Given the description of an element on the screen output the (x, y) to click on. 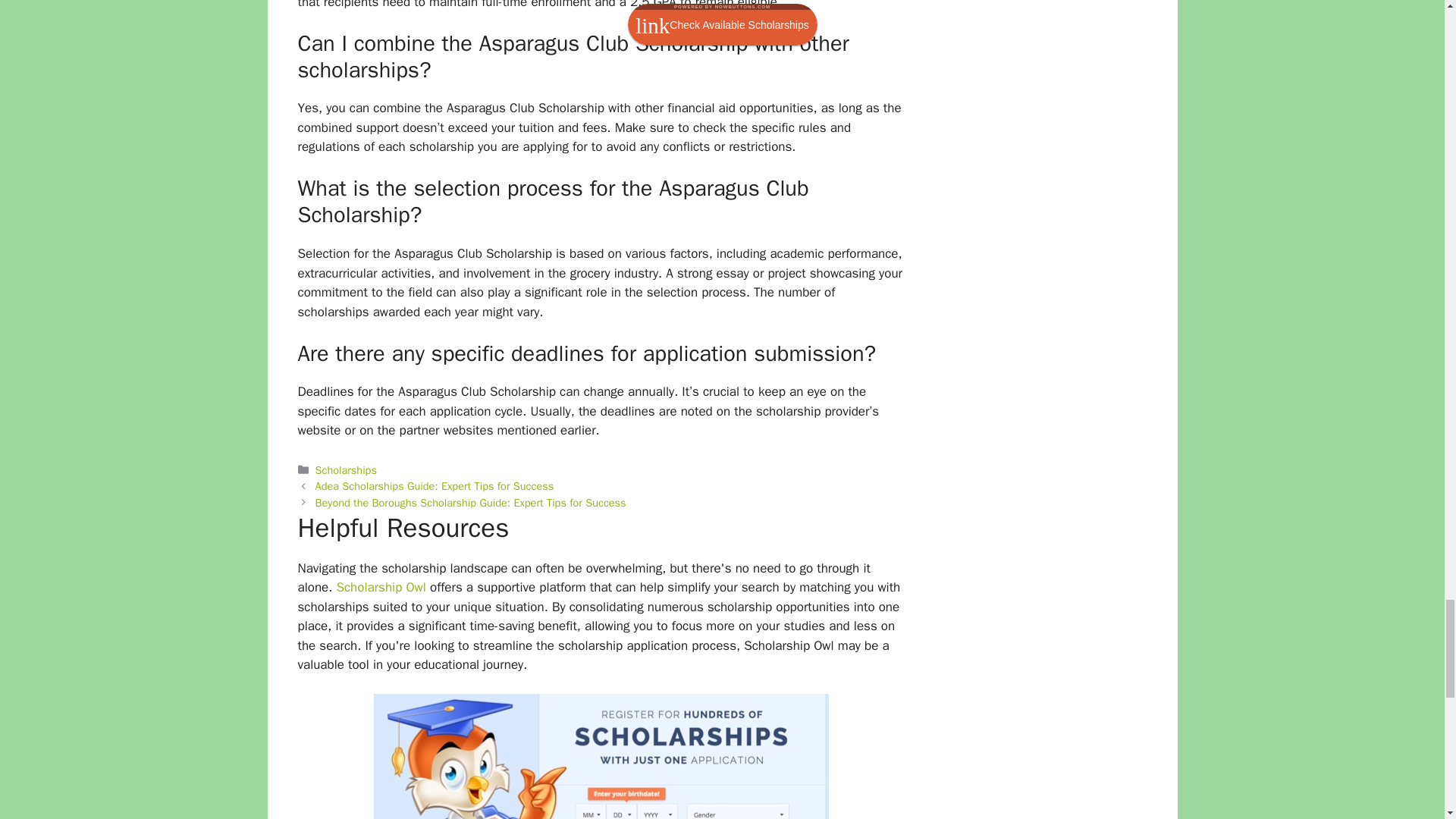
Adea Scholarships Guide: Expert Tips for Success (434, 486)
Scholarship Owl (380, 587)
Scholarships (346, 469)
